Given the description of an element on the screen output the (x, y) to click on. 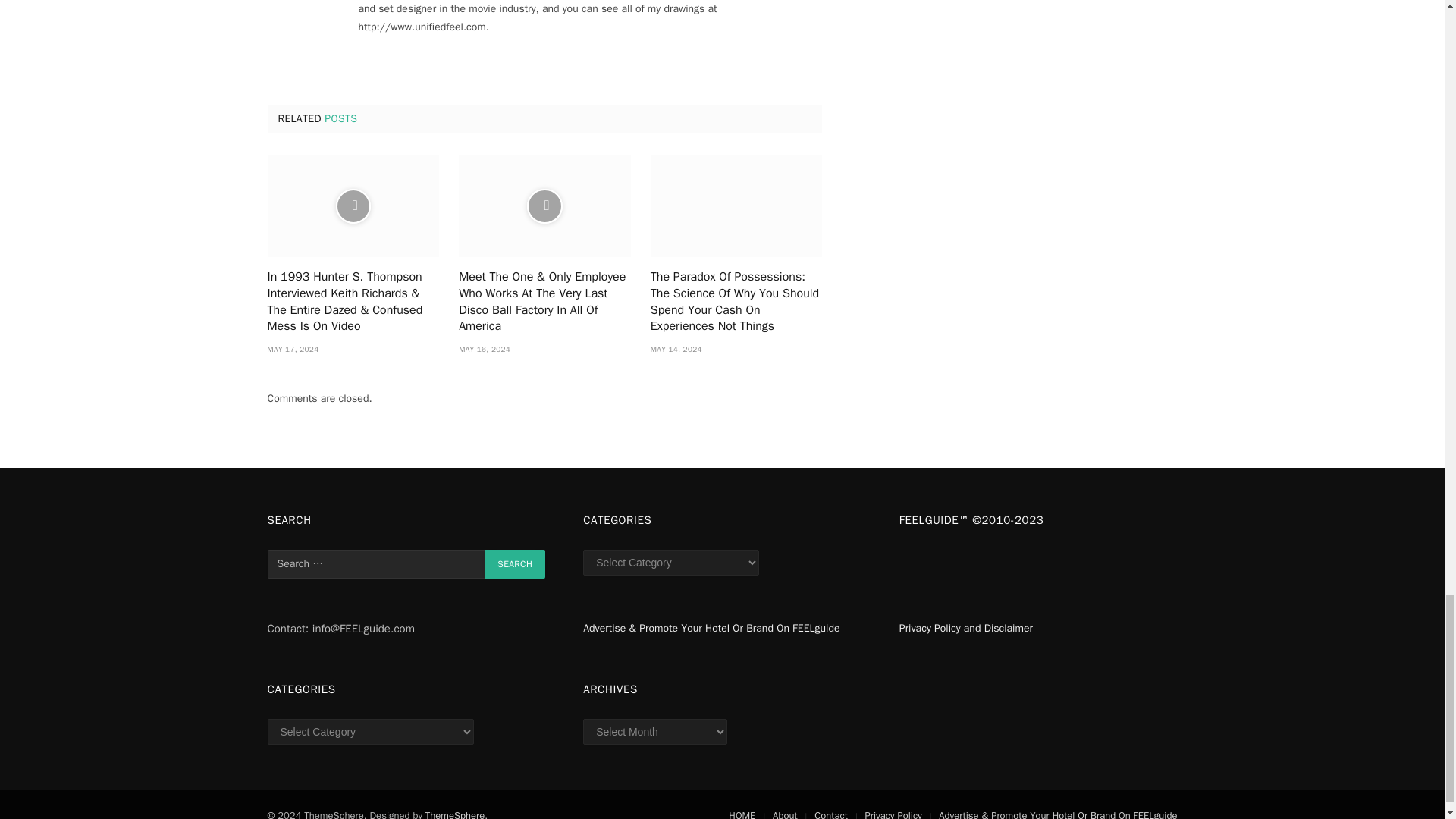
Search (514, 563)
Search (514, 563)
